Given the description of an element on the screen output the (x, y) to click on. 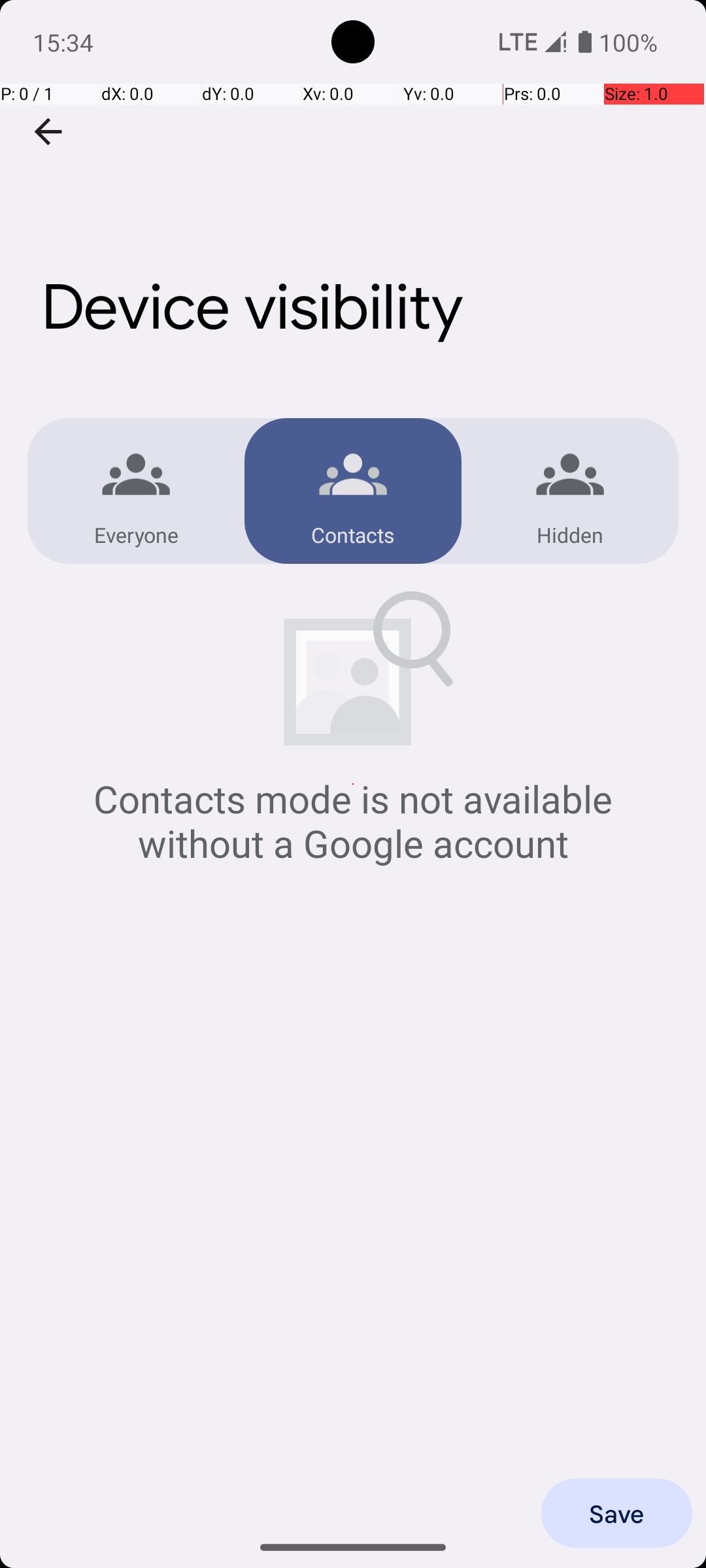
Device visibility Element type: android.widget.FrameLayout (353, 195)
Contacts mode is not available without a Google account Element type: android.widget.TextView (352, 820)
Everyone Element type: android.widget.TextView (135, 534)
Hidden Element type: android.widget.TextView (569, 534)
